Given the description of an element on the screen output the (x, y) to click on. 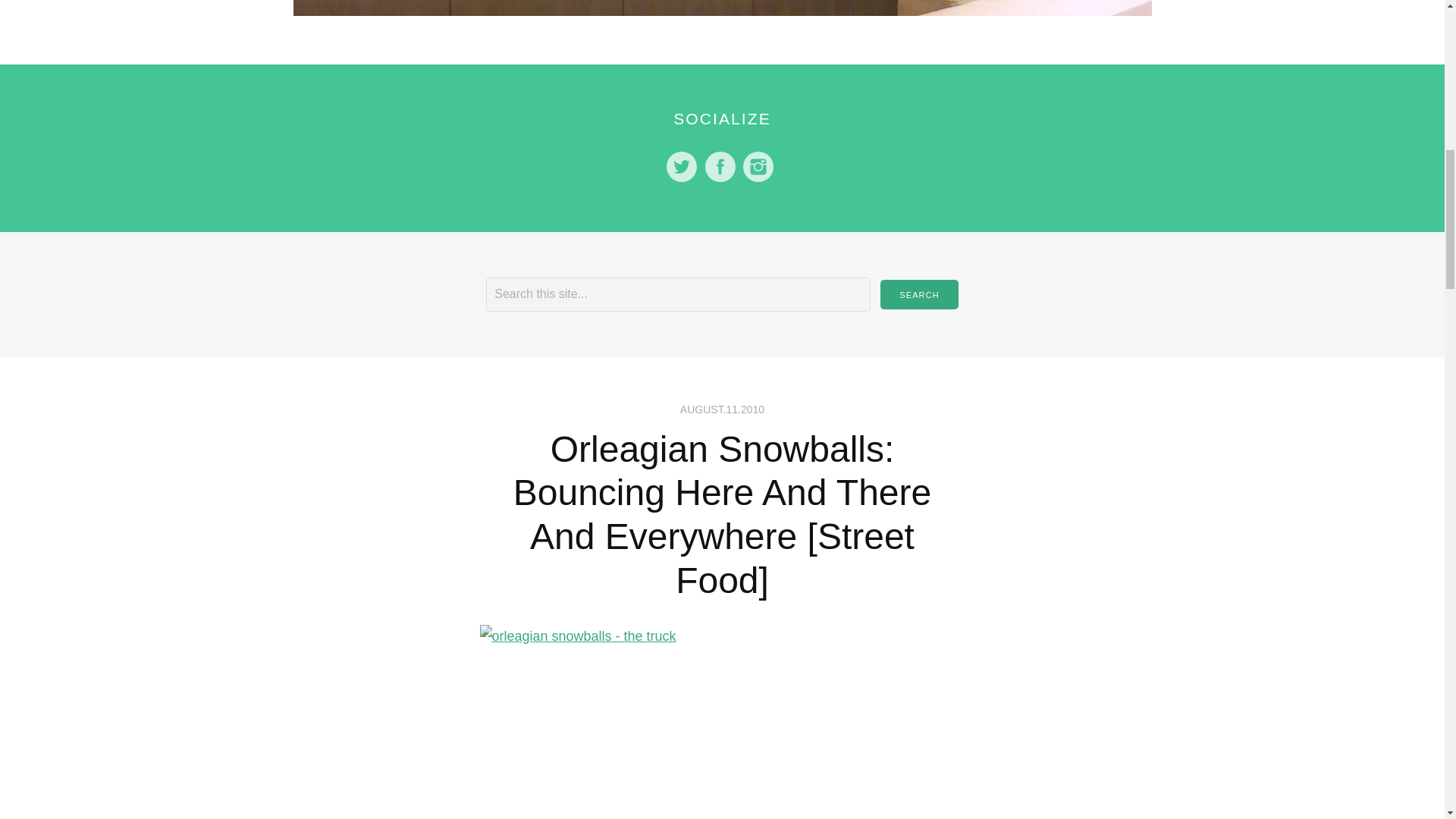
Search (919, 294)
orleagian snowballs - the truck by foodiebuddha, on Flickr (721, 721)
Facebook (719, 166)
Twitter (681, 166)
Search (919, 294)
Twitter (681, 166)
AUGUST.11.2010 (721, 409)
Instagram (757, 166)
Instagram (757, 166)
Facebook (719, 166)
